Given the description of an element on the screen output the (x, y) to click on. 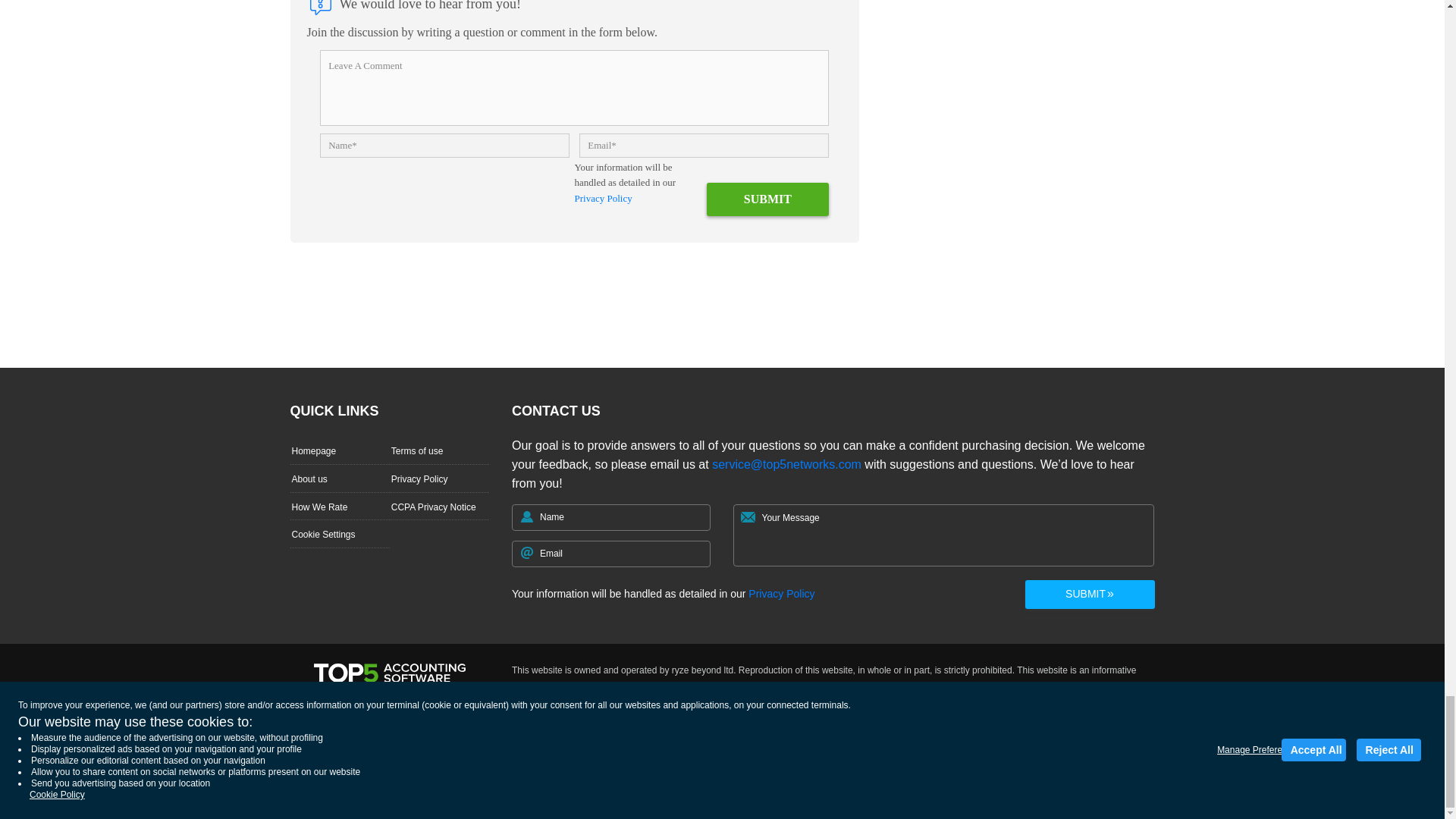
Submit (767, 199)
